Given the description of an element on the screen output the (x, y) to click on. 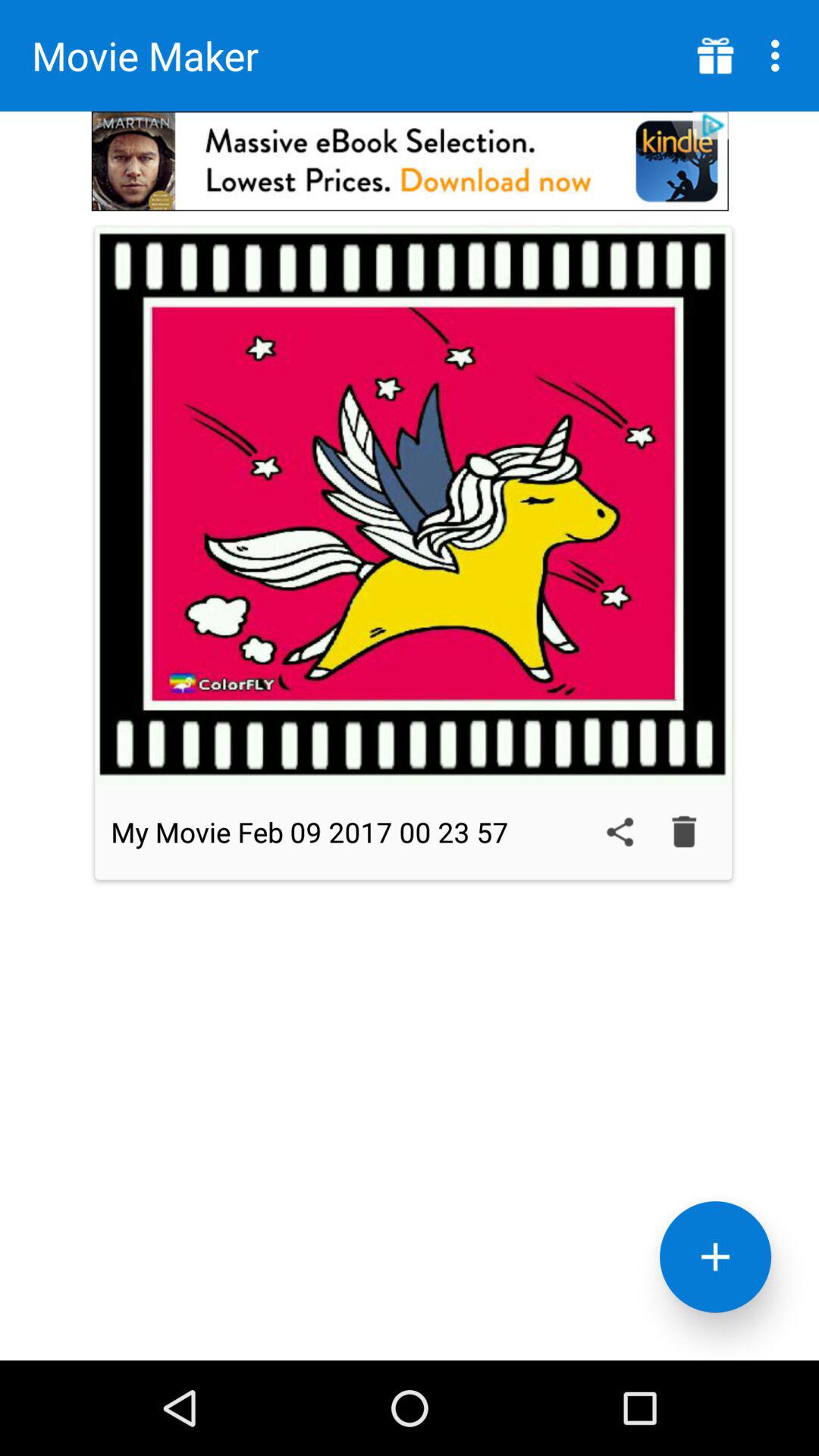
open advertisement (409, 161)
